Given the description of an element on the screen output the (x, y) to click on. 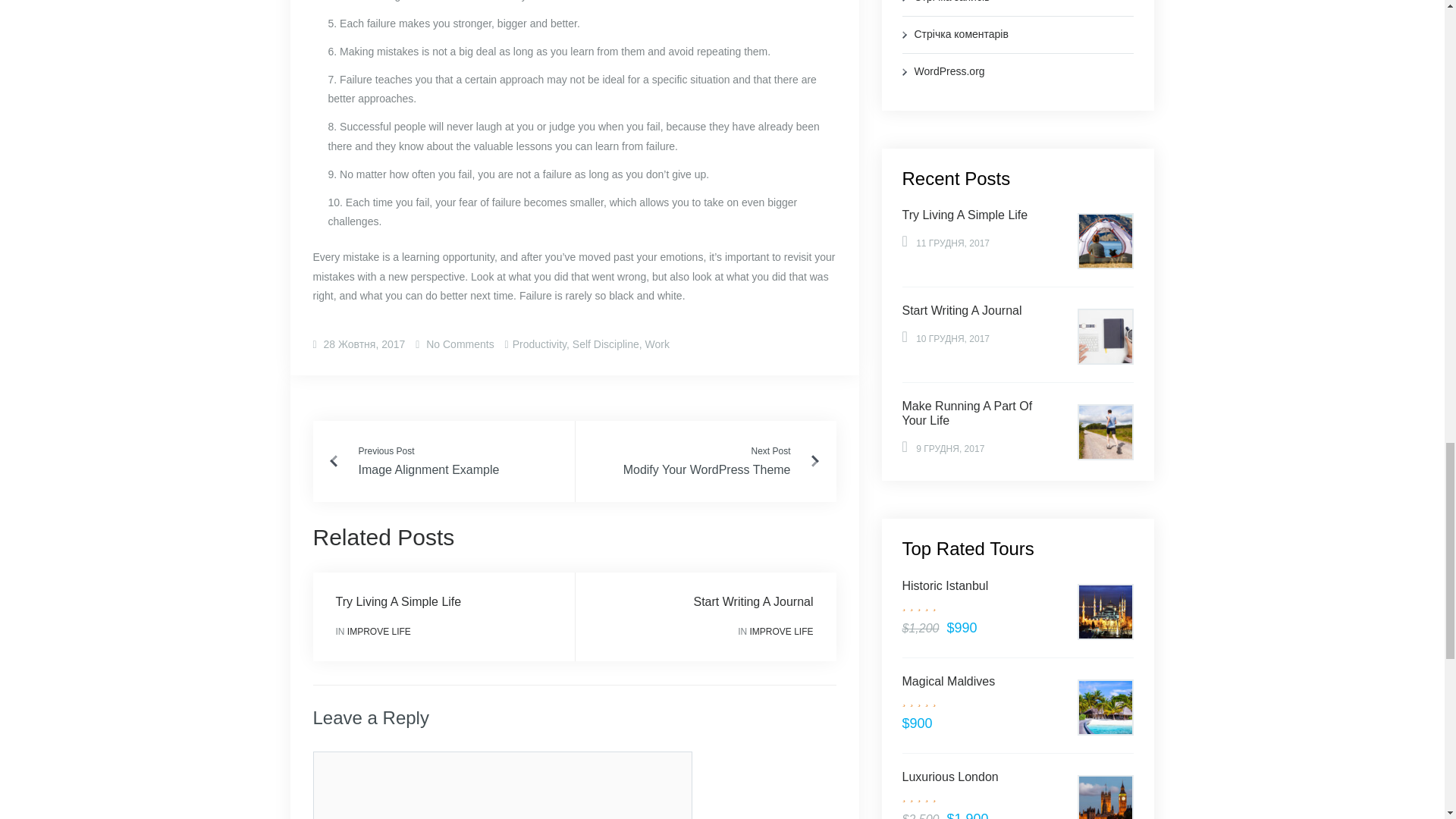
Self Discipline (605, 344)
Next Post (770, 451)
Previous Post (385, 451)
Modify Your WordPress Theme (706, 469)
Image Alignment Example (428, 469)
No Comments (458, 344)
Work (657, 344)
Productivity (539, 344)
